Given the description of an element on the screen output the (x, y) to click on. 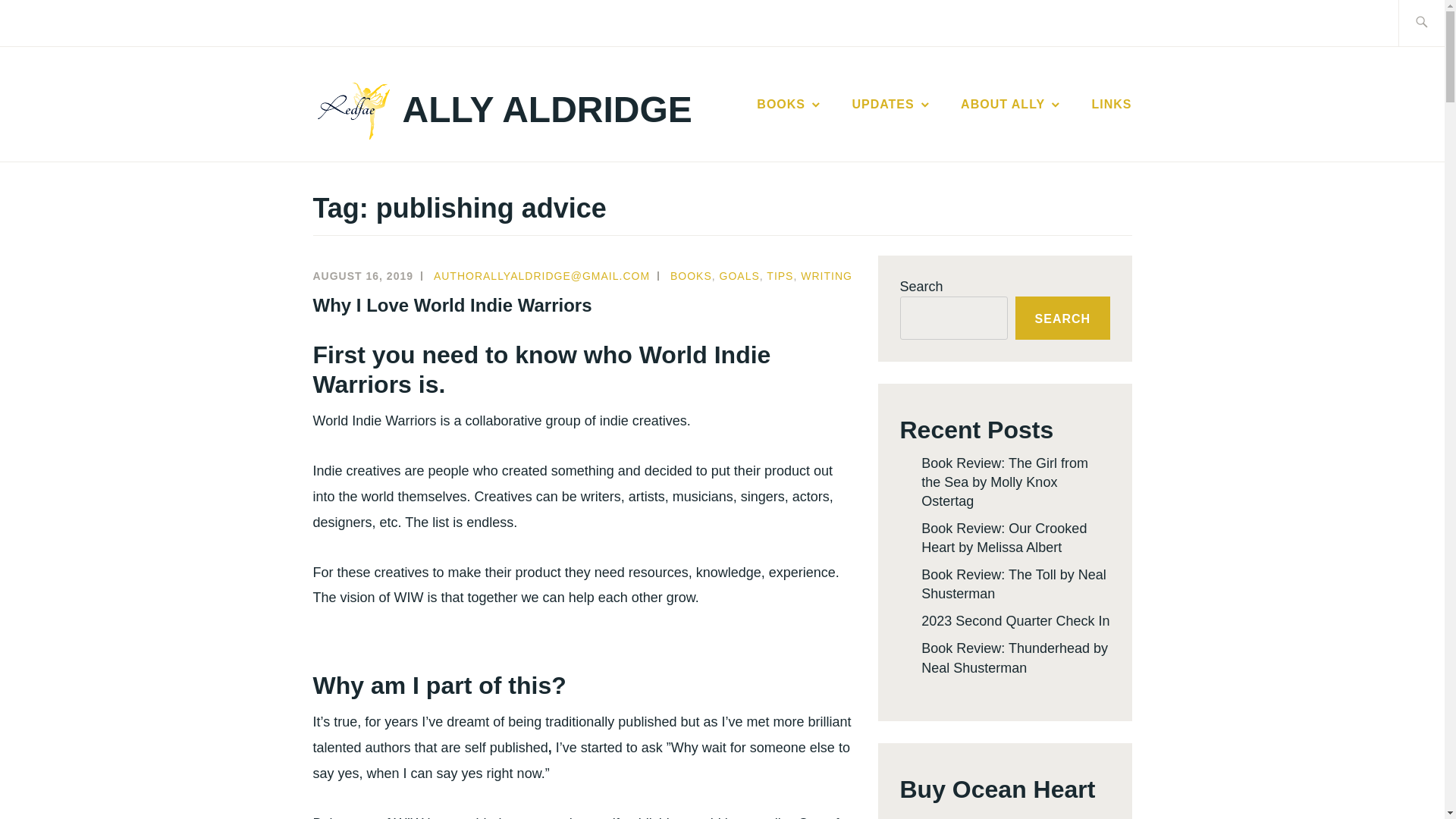
BOOKS (789, 104)
GOALS (739, 275)
Why I Love World Indie Warriors (452, 304)
AUGUST 16, 2019 (363, 275)
ALLY ALDRIDGE (548, 109)
BOOKS (690, 275)
ABOUT ALLY (1011, 104)
Book Review: The Girl from the Sea by Molly Knox Ostertag (1004, 481)
LINKS (1112, 104)
Search (47, 22)
